Given the description of an element on the screen output the (x, y) to click on. 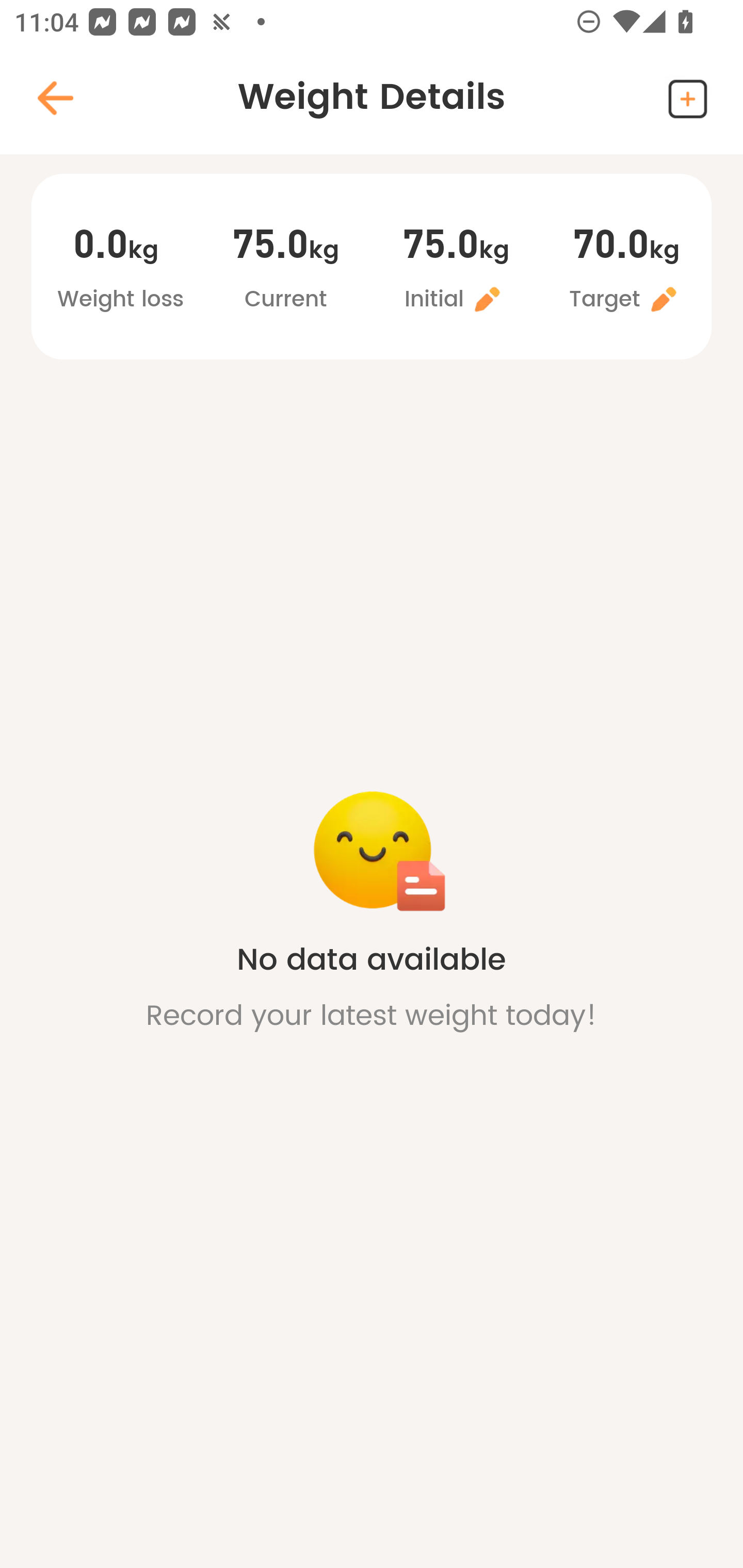
75.0kg Initial (455, 268)
70.0kg Target (625, 268)
